Given the description of an element on the screen output the (x, y) to click on. 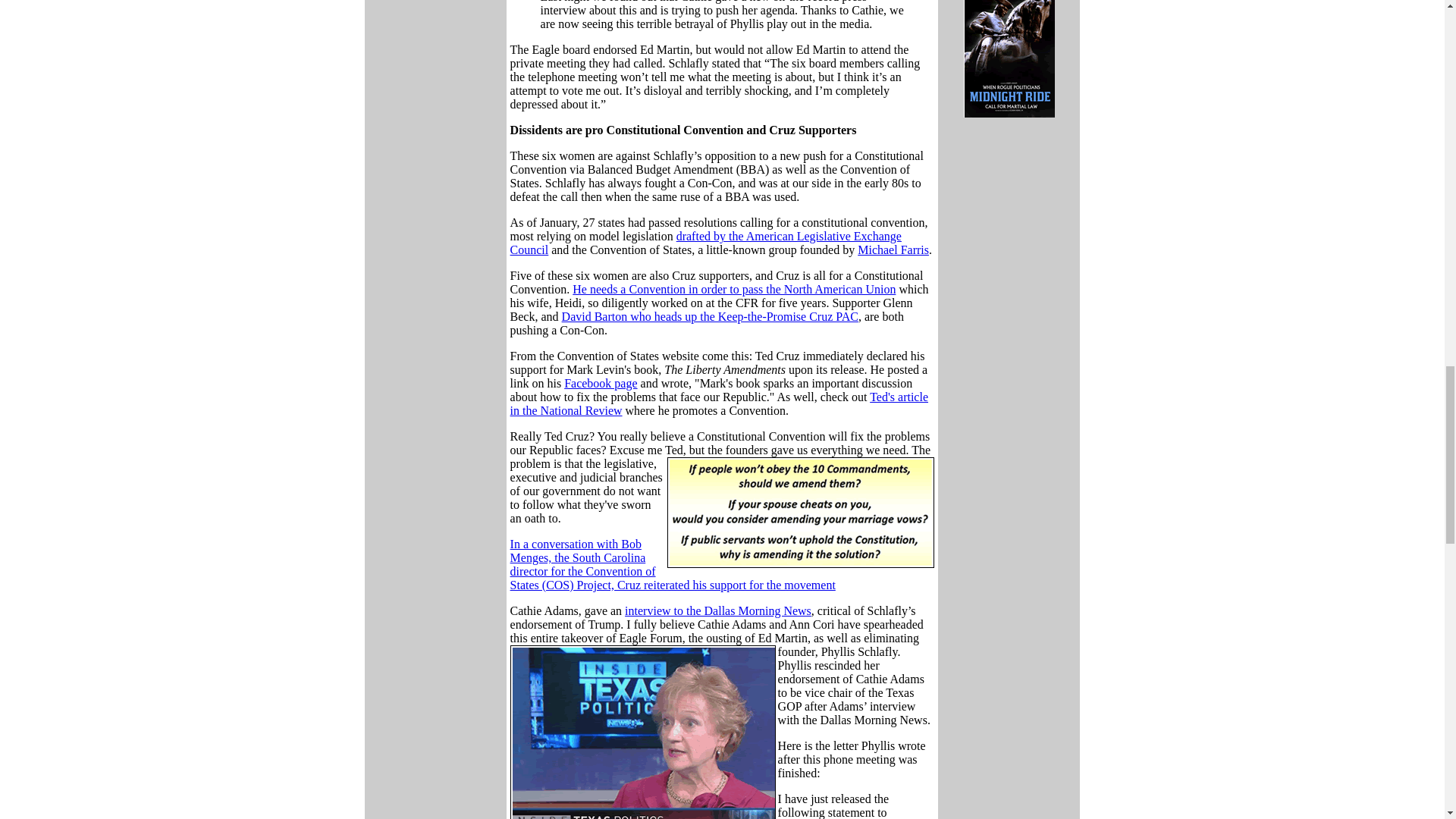
Facebook page (600, 382)
David Barton who heads up the Keep-the-Promise Cruz PAC (710, 316)
Ted's article in the National Review (719, 403)
Michael Farris (892, 249)
interview to the Dallas Morning News (717, 610)
drafted by the American Legislative Exchange Council (706, 243)
